Given the description of an element on the screen output the (x, y) to click on. 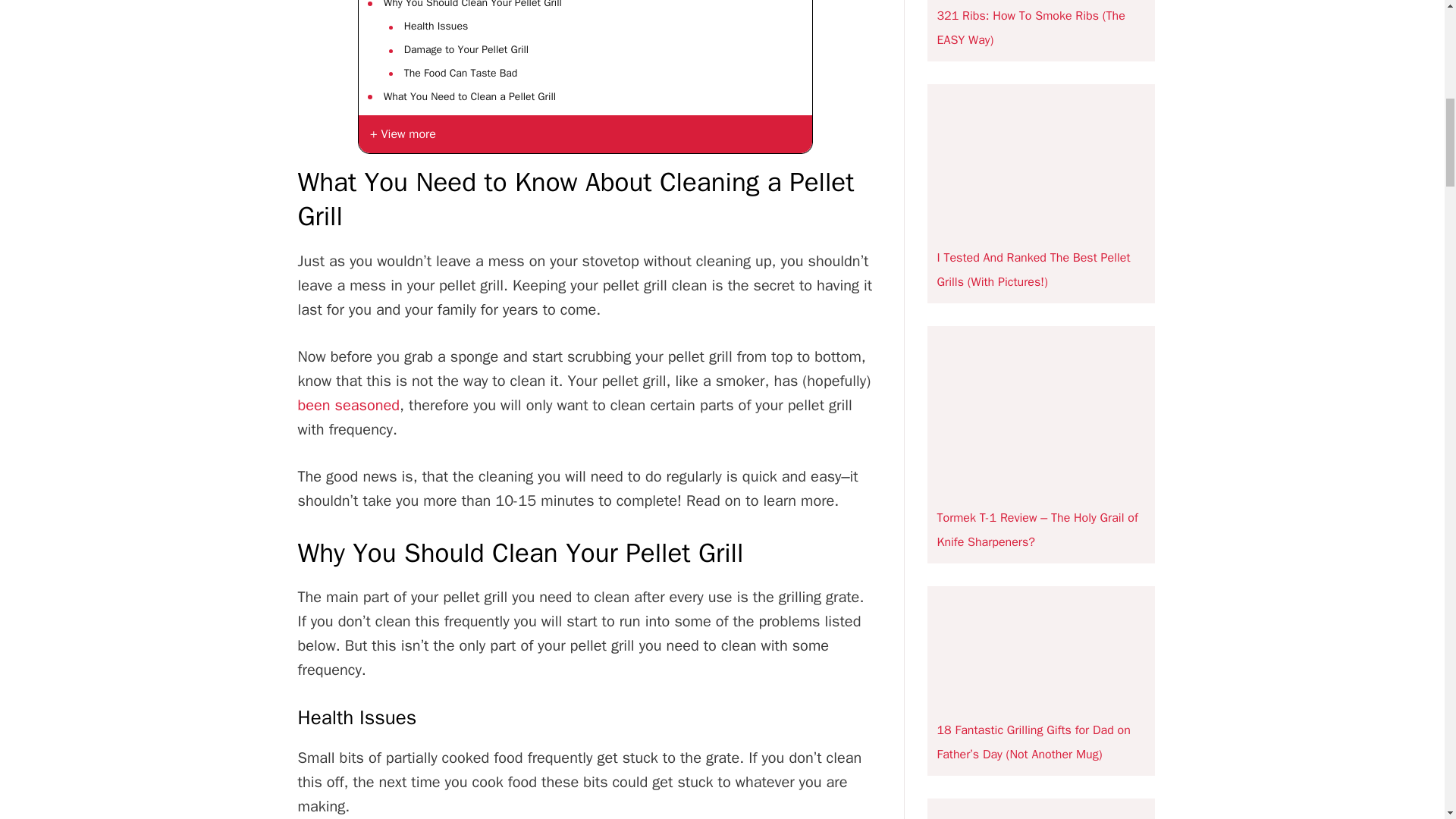
The Food Can Taste Bad (458, 73)
What You Need to Clean a Pellet Grill (468, 96)
What You Need to Clean a Pellet Grill (468, 96)
Why You Should Clean Your Pellet Grill (471, 5)
View more (585, 134)
Damage to Your Pellet Grill (464, 49)
Health Issues (434, 26)
been seasoned (347, 404)
The Food Can Taste Bad (458, 73)
Health Issues (434, 26)
